Given the description of an element on the screen output the (x, y) to click on. 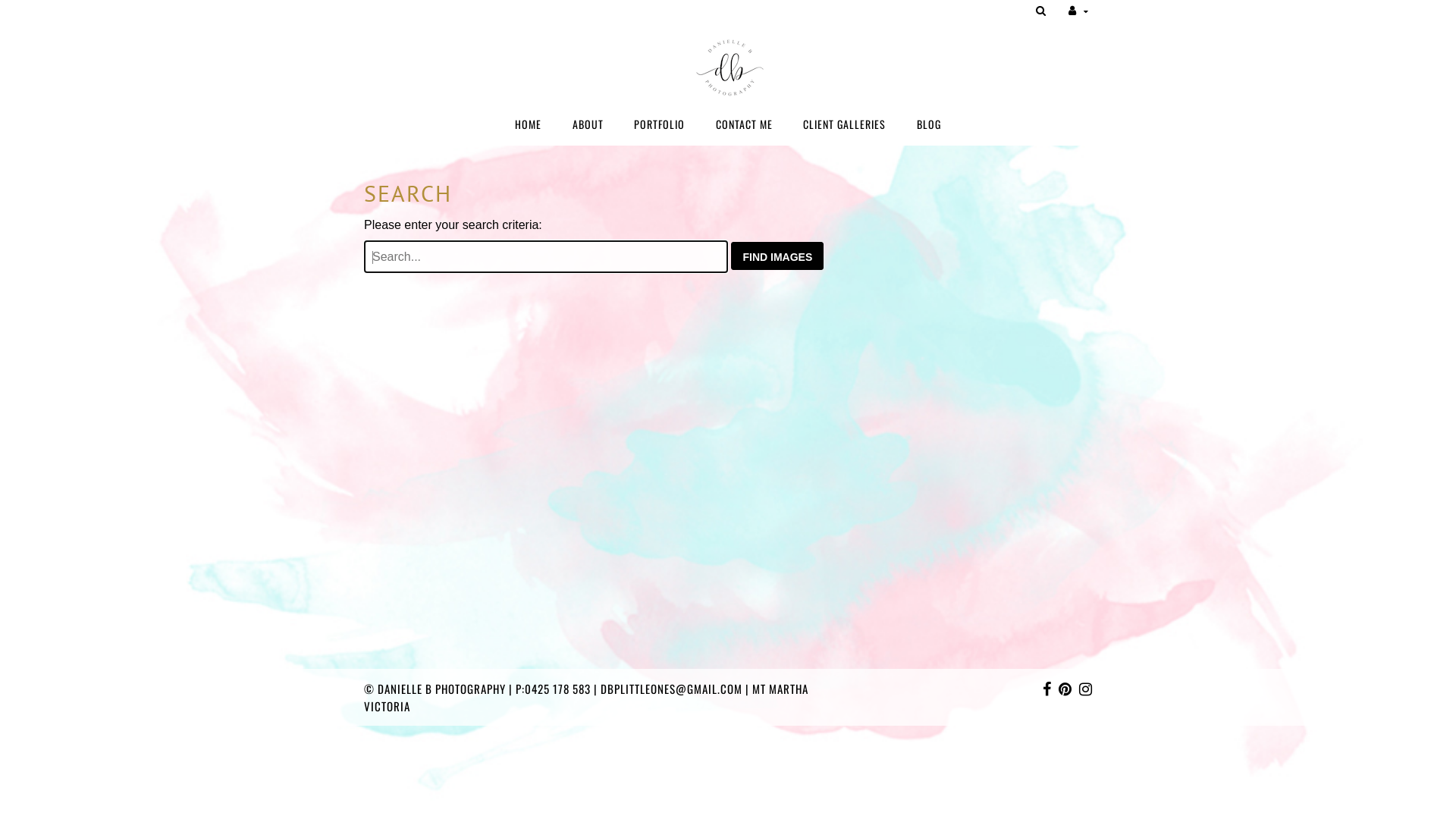
CONTACT ME Element type: text (744, 124)
CLIENT GALLERIES Element type: text (844, 124)
ABOUT Element type: text (587, 124)
PORTFOLIO Element type: text (659, 124)
BLOG Element type: text (928, 124)
HOME Element type: text (528, 124)
Find images Element type: text (777, 255)
